Given the description of an element on the screen output the (x, y) to click on. 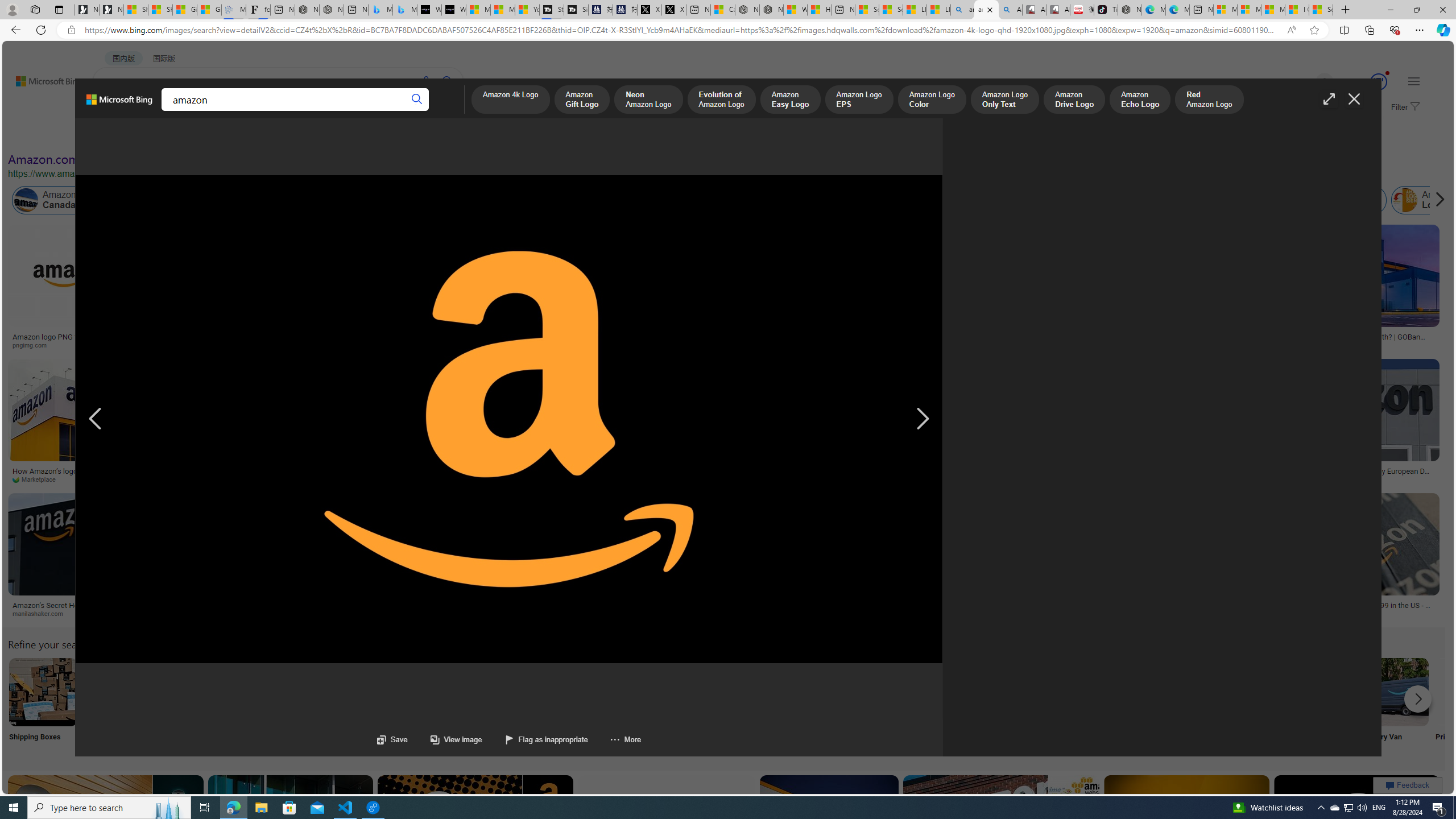
Type (212, 135)
Date (336, 135)
Amazon Logo EPS (858, 100)
Save (392, 739)
All Cubot phones (1057, 9)
Amazon App Store Download App Store Download (1319, 706)
Amazon Wish List (568, 691)
Amazon Canada Online (65, 199)
Microsoft Start Sports (478, 9)
MAPS (397, 111)
